Given the description of an element on the screen output the (x, y) to click on. 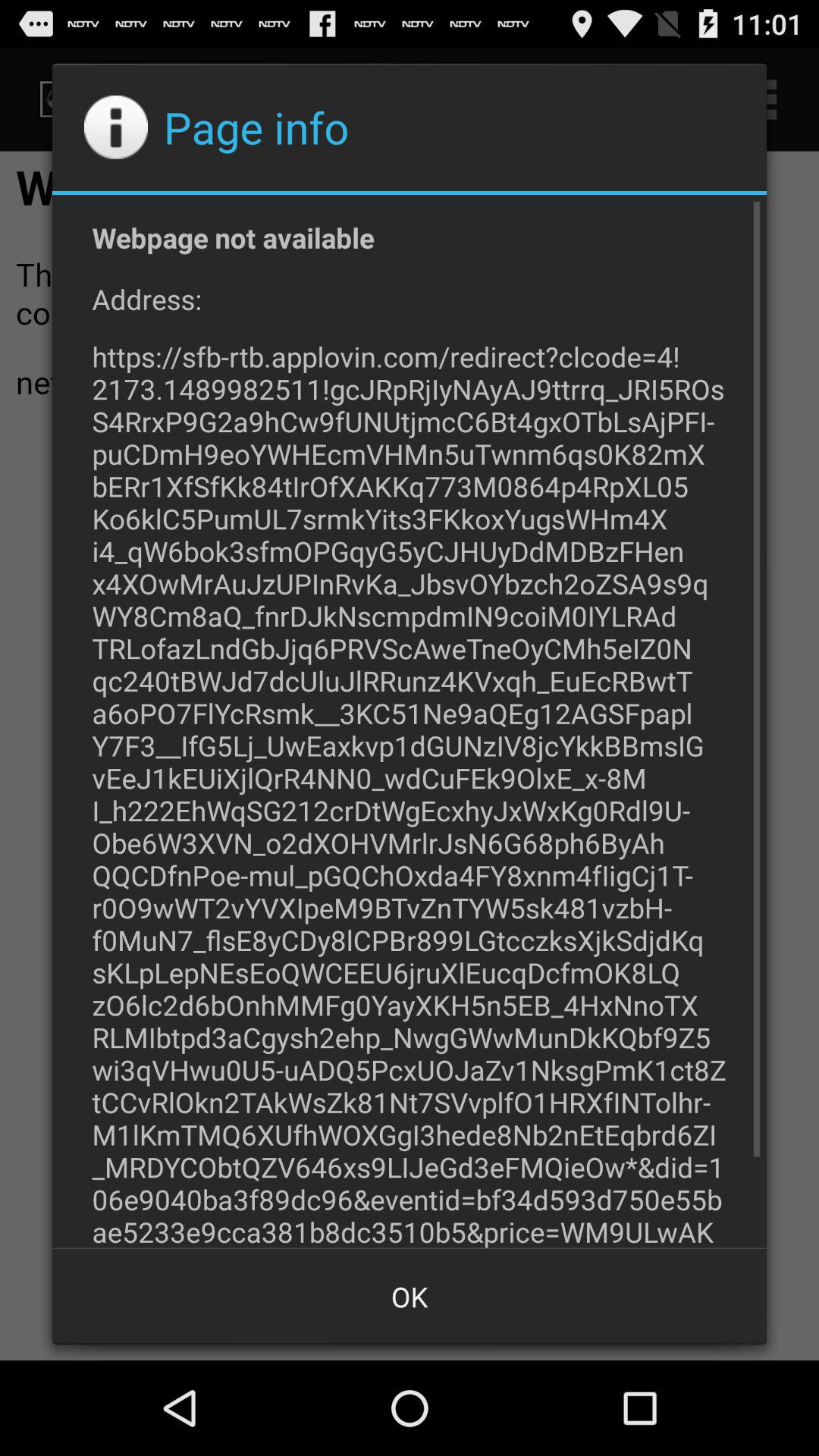
scroll to ok item (409, 1296)
